Given the description of an element on the screen output the (x, y) to click on. 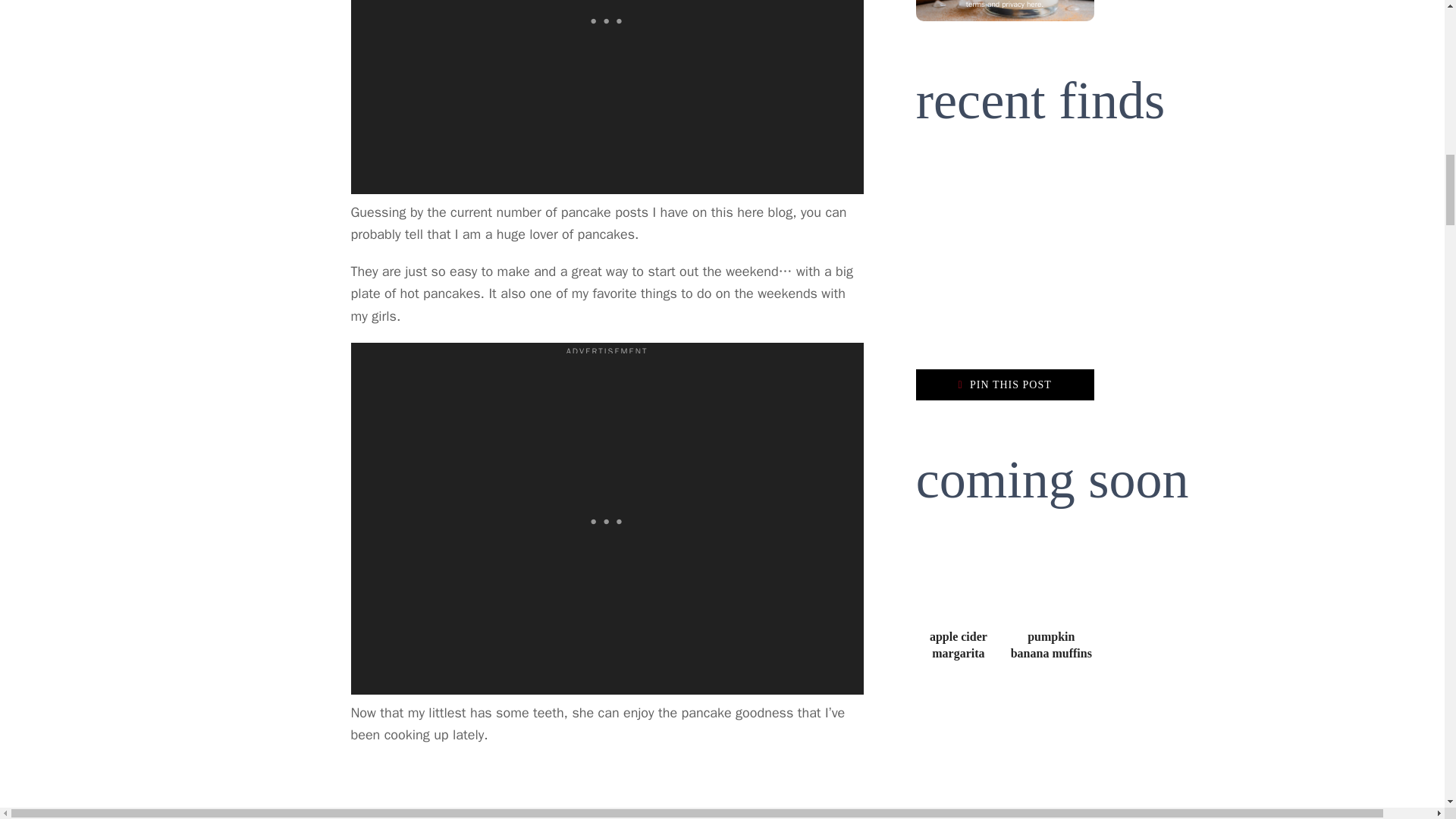
Chocolate French Silk Pancakes 2 (607, 790)
